Given the description of an element on the screen output the (x, y) to click on. 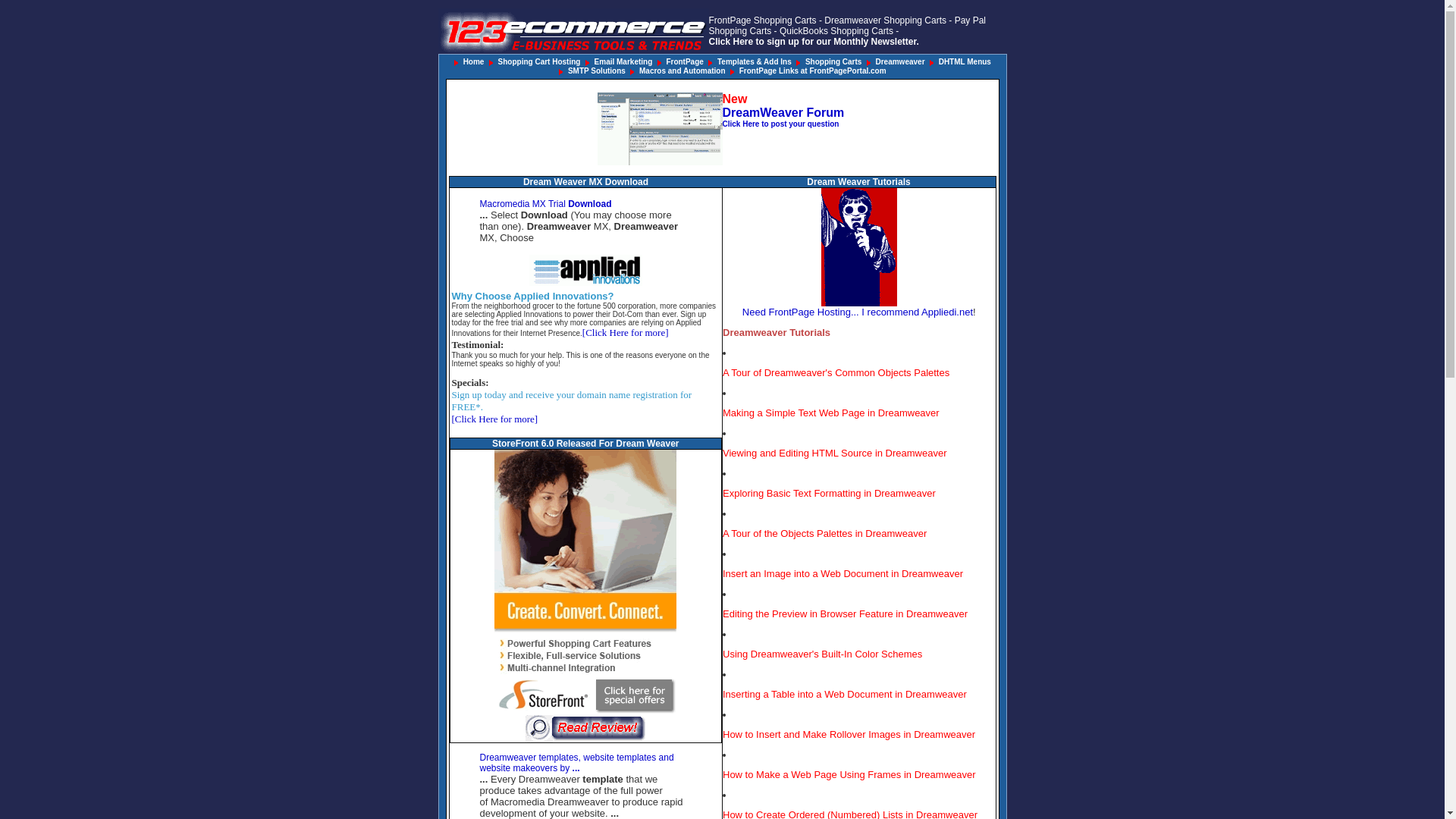
New Element type: text (733, 98)
Viewing and Editing HTML Source in Dreamweaver Element type: text (834, 453)
Click Here to post your question Element type: text (779, 123)
Inserting a Table into a Web Document in Dreamweaver Element type: text (844, 694)
Templates & Add Ins Element type: text (754, 61)
Using Dreamweaver's Built-In Color Schemes Element type: text (822, 654)
How to Insert and Make Rollover Images in Dreamweaver Element type: text (848, 734)
Editing the Preview in Browser Feature in Dreamweaver Element type: text (844, 613)
Click Here to sign up for our Monthly Newsletter. Element type: text (813, 41)
DreamWeaver Forum Element type: text (782, 112)
DHTML Menus Element type: text (964, 61)
Insert an Image into a Web Document in Dreamweaver Element type: text (842, 573)
A Tour of the Objects Palettes in Dreamweaver Element type: text (824, 533)
Shopping Cart Hosting Element type: text (539, 61)
FrontPage Element type: text (683, 61)
Making a Simple Text Web Page in Dreamweaver Element type: text (830, 412)
Macros and Automation Element type: text (682, 70)
Dreamweaver Element type: text (899, 61)
SMTP Solutions Element type: text (596, 70)
FrontPage Links at FrontPagePortal.com Element type: text (812, 70)
How to Make a Web Page Using Frames in Dreamweaver Element type: text (848, 774)
A Tour of Dreamweaver's Common Objects Palettes Element type: text (835, 372)
[Click Here for more] Element type: text (625, 332)
Email Marketing Element type: text (623, 61)
Macromedia MX Trial Download Element type: text (545, 203)
[Click Here for more] Element type: text (494, 418)
Need FrontPage Hosting... I recommend Appliedi.net Element type: text (857, 311)
Home Element type: text (473, 61)
Exploring Basic Text Formatting in Dreamweaver Element type: text (828, 493)
Shopping Carts Element type: text (833, 61)
